Given the description of an element on the screen output the (x, y) to click on. 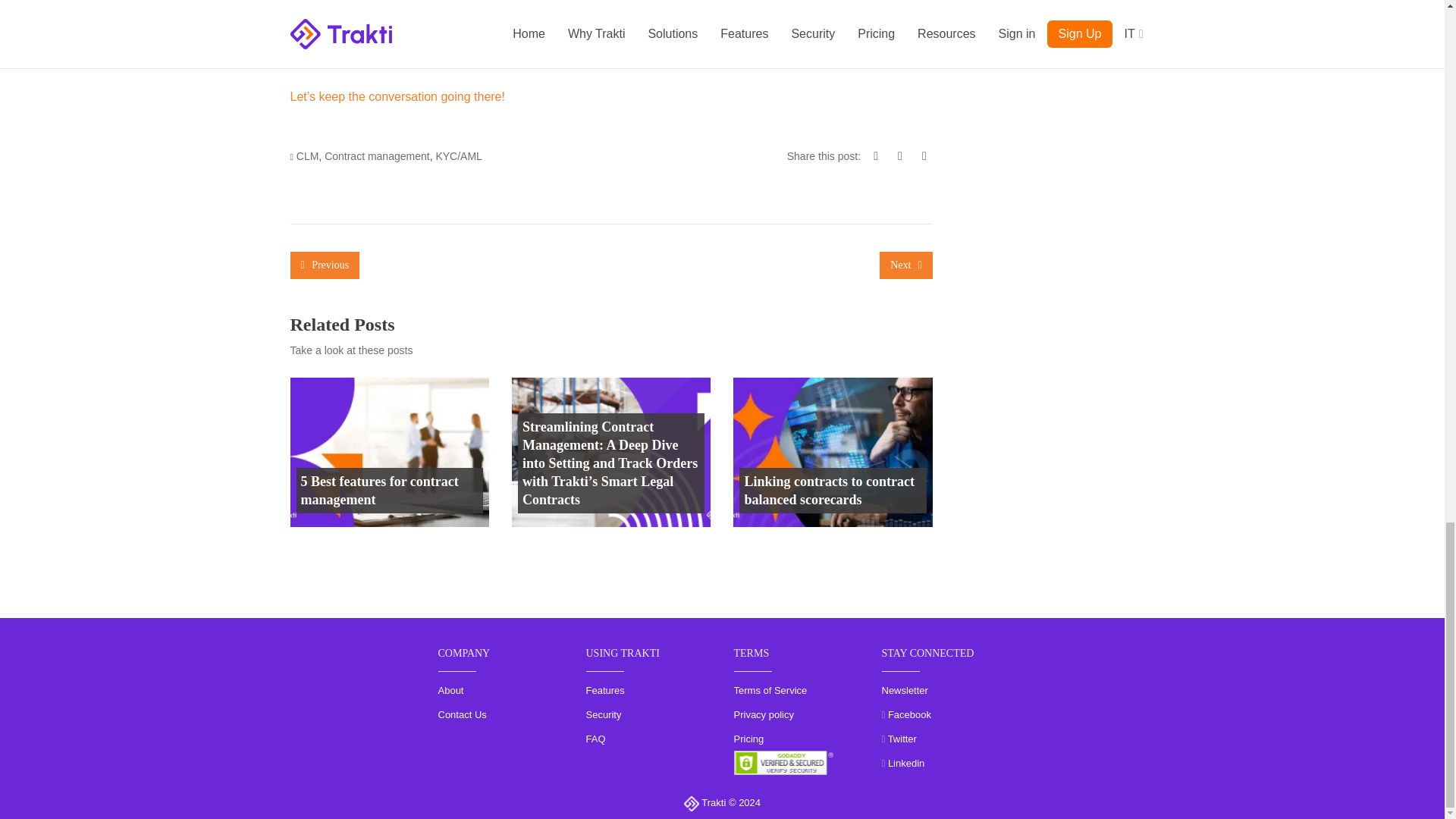
Contract management (376, 155)
Next (906, 265)
5 Best features for contract management (388, 490)
CLM (307, 155)
Previous (324, 265)
Linking contracts to contract balanced scorecards (832, 490)
